Given the description of an element on the screen output the (x, y) to click on. 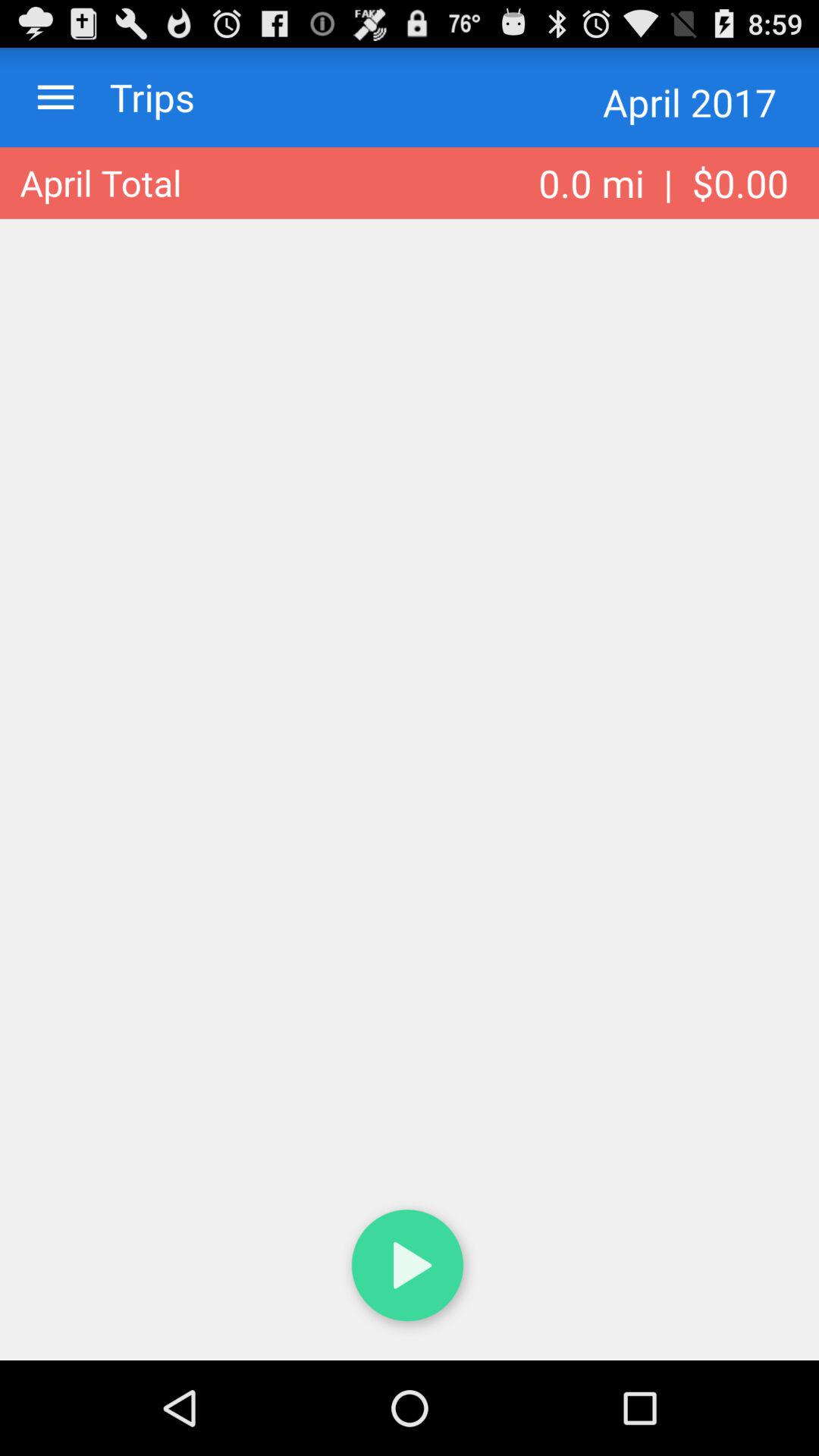
turn on trips item (137, 96)
